Given the description of an element on the screen output the (x, y) to click on. 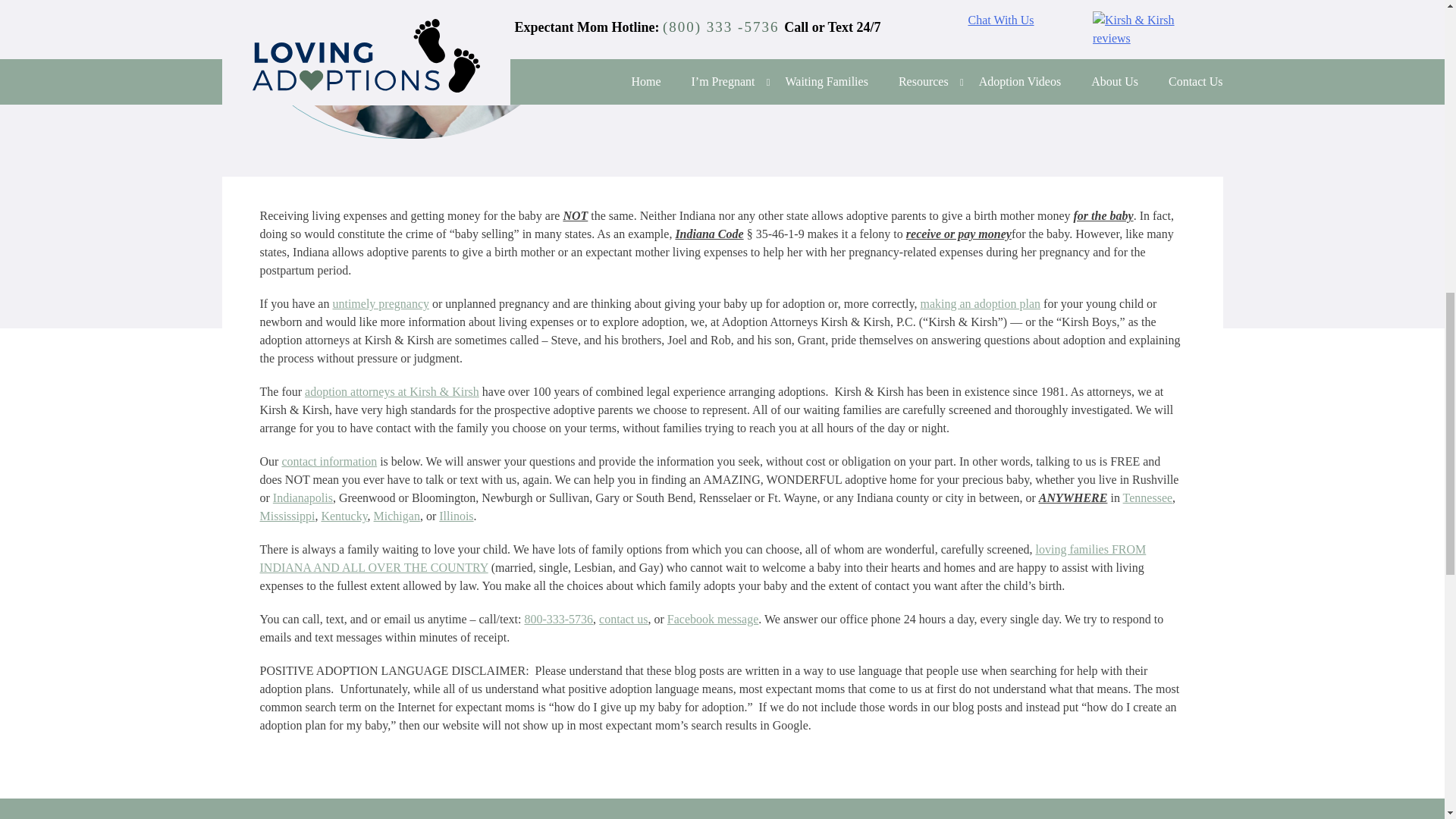
Michigan (397, 515)
untimely pregnancy (380, 303)
making an adoption plan (980, 303)
Illinois (456, 515)
Indianapolis (303, 497)
contact information (329, 461)
Tennessee (1147, 497)
Kentucky (343, 515)
Mississippi (286, 515)
